Given the description of an element on the screen output the (x, y) to click on. 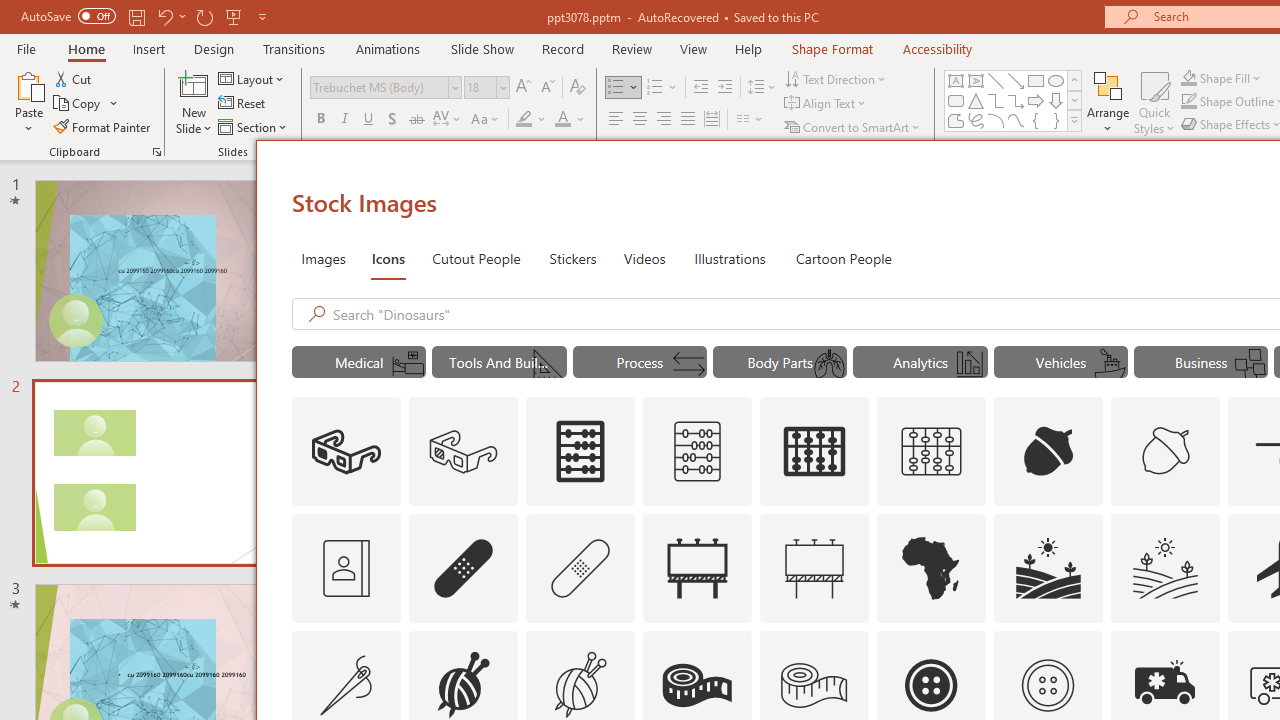
AutomationID: Icons_Agriculture (1048, 568)
AutomationID: Icons_Abacus1_M (931, 452)
